Given the description of an element on the screen output the (x, y) to click on. 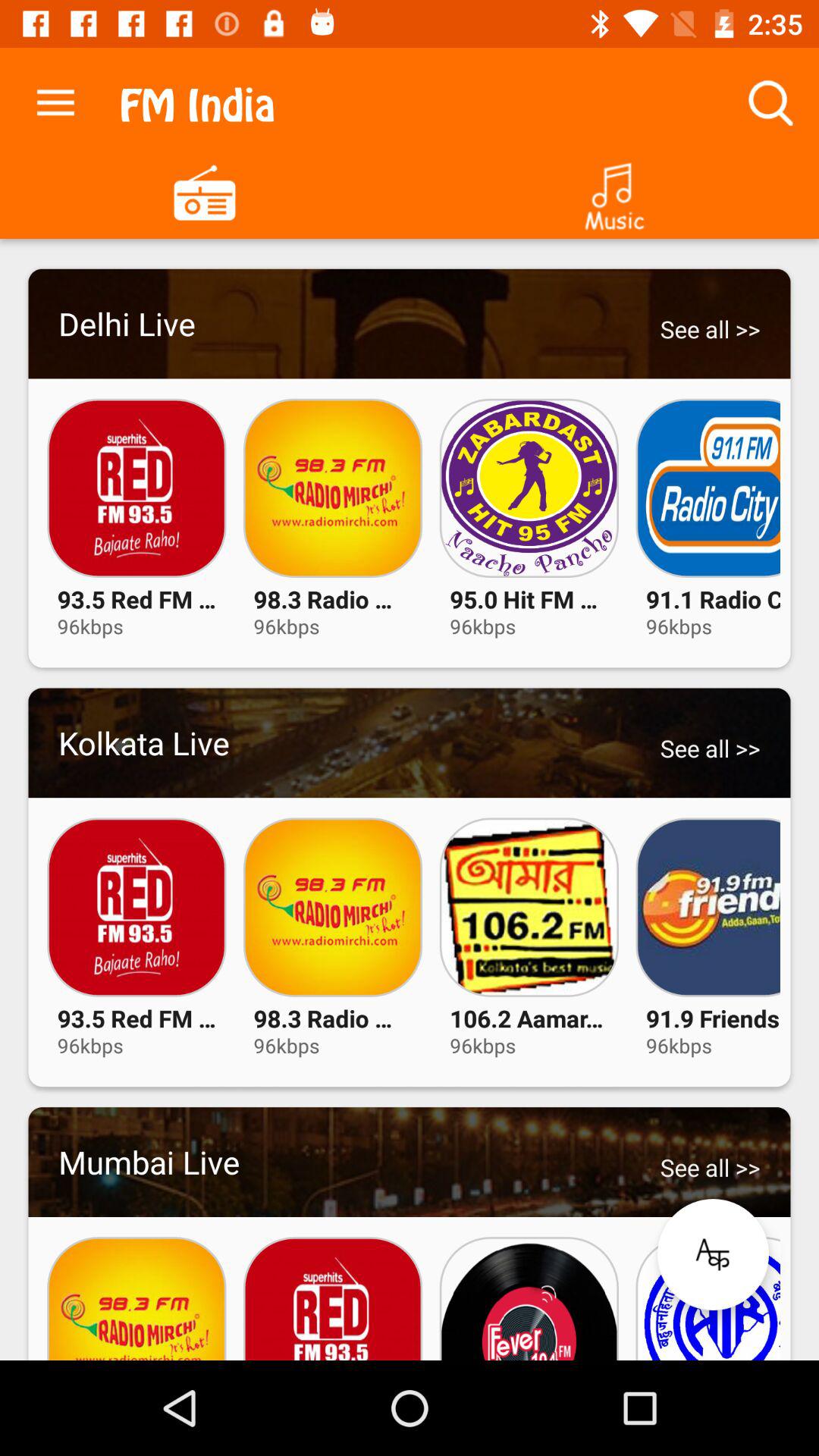
look for music (614, 190)
